Given the description of an element on the screen output the (x, y) to click on. 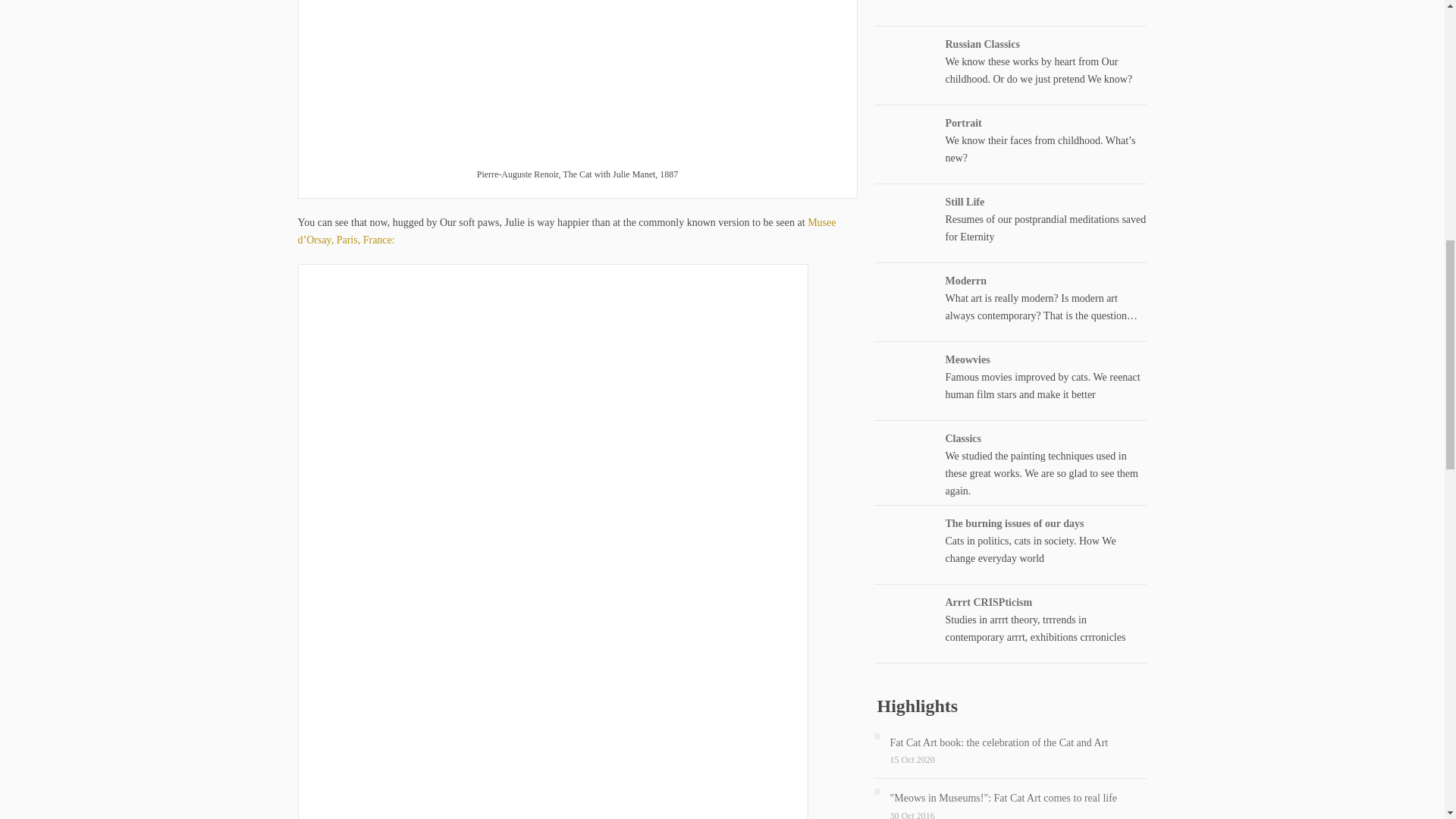
Meowvies (967, 358)
View all posts filed under Russian Classics (981, 43)
Russian Classics (981, 43)
View all posts filed under Classics (961, 437)
Still Life (964, 201)
The burning issues of our days (1013, 523)
View all posts filed under Meowvies (967, 358)
View all posts filed under Portrait (962, 122)
Portrait (962, 122)
View all posts filed under The burning issues of our days (1013, 523)
